Given the description of an element on the screen output the (x, y) to click on. 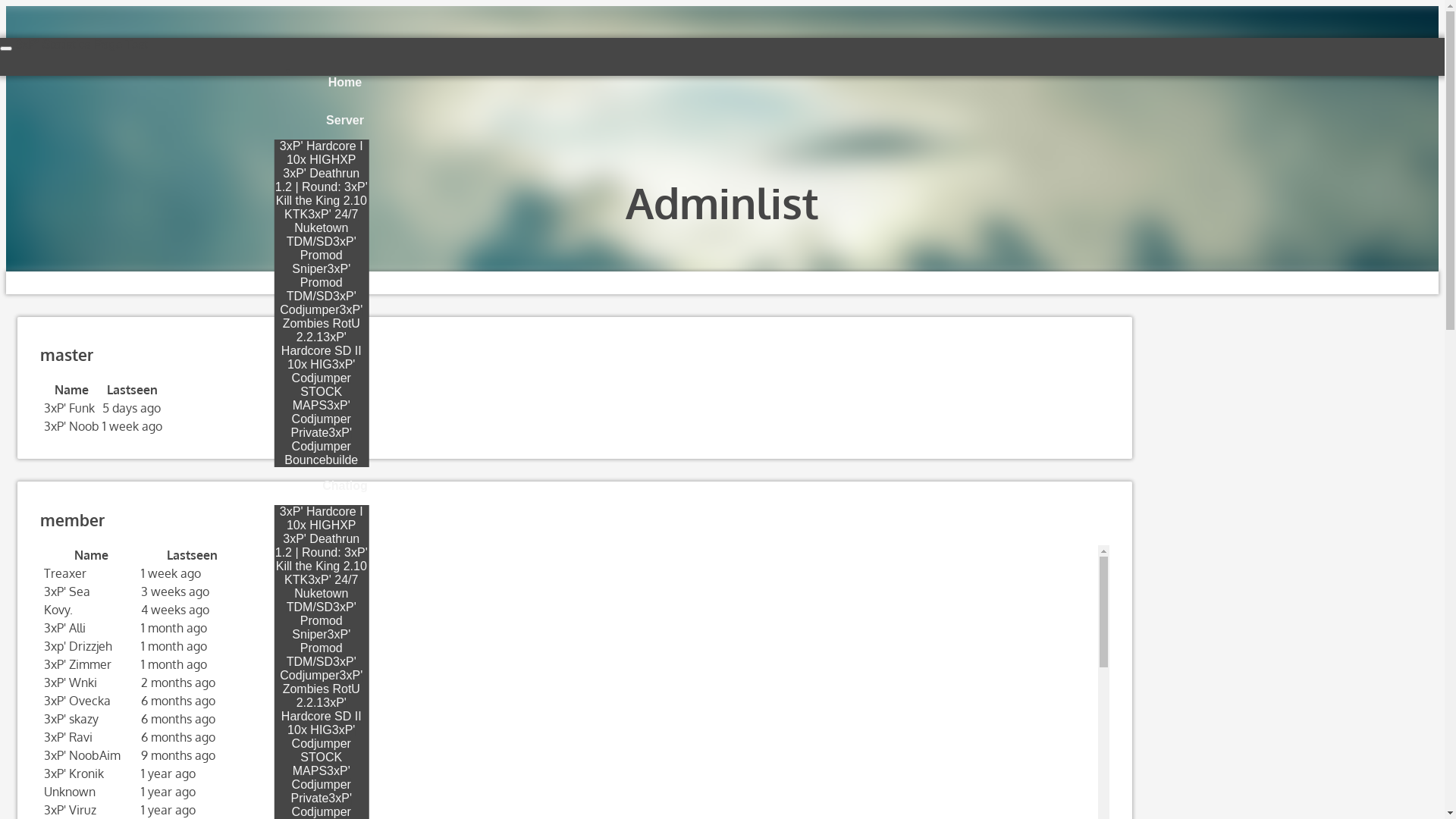
3xP' Codjumper Bouncebuilde Element type: text (320, 446)
3xP' Codjumper Private Element type: text (321, 784)
3xP' Hardcore I 10x HIGHXP Element type: text (321, 152)
3xP' Deathrun 1.2 | Round: Element type: text (317, 545)
3xP' Hardcore SD II 10x HIG Element type: text (321, 716)
3xP' Statistics Page Test Element type: text (81, 43)
3xP' Kill the King 2.10 KTK Element type: text (321, 566)
3xP' Hardcore I 10x HIGHXP Element type: text (321, 518)
3xP' Codjumper STOCK MAPS Element type: text (323, 384)
3xP' Promod TDM/SD Element type: text (318, 647)
3xP' Kill the King 2.10 KTK Element type: text (321, 200)
3xP' Codjumper Element type: text (317, 668)
Datenschutz Element type: text (231, 335)
3xP' Codjumper Element type: text (317, 302)
Imprint Element type: text (183, 335)
3xP' Promod TDM/SD Element type: text (318, 282)
3xP' Zombies RotU 2.2.1 Element type: text (322, 688)
3xP' Promod Sniper Element type: text (323, 620)
3xP' Zombies RotU 2.2.1 Element type: text (322, 323)
3xP' Promod Sniper Element type: text (323, 255)
3xP' Hardcore SD II 10x HIG Element type: text (321, 350)
3xP' Deathrun 1.2 | Round: Element type: text (317, 179)
3xP' 24/7 Nuketown TDM/SD Element type: text (322, 593)
3xP' Codjumper Private Element type: text (321, 418)
3xP' 24/7 Nuketown TDM/SD Element type: text (322, 227)
3xP' Codjumper STOCK MAPS Element type: text (323, 750)
